Given the description of an element on the screen output the (x, y) to click on. 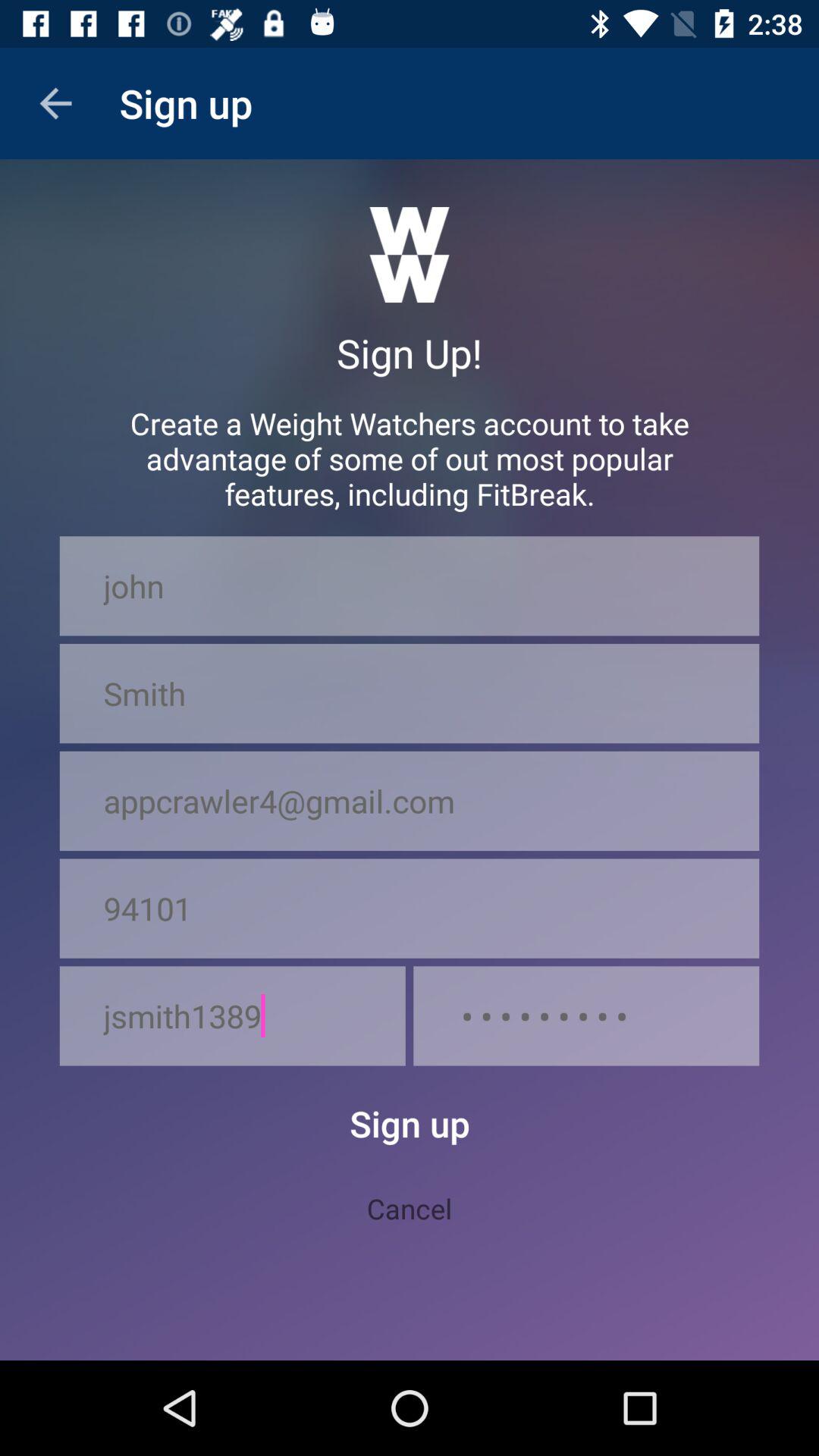
press item below the sign up (409, 1208)
